Given the description of an element on the screen output the (x, y) to click on. 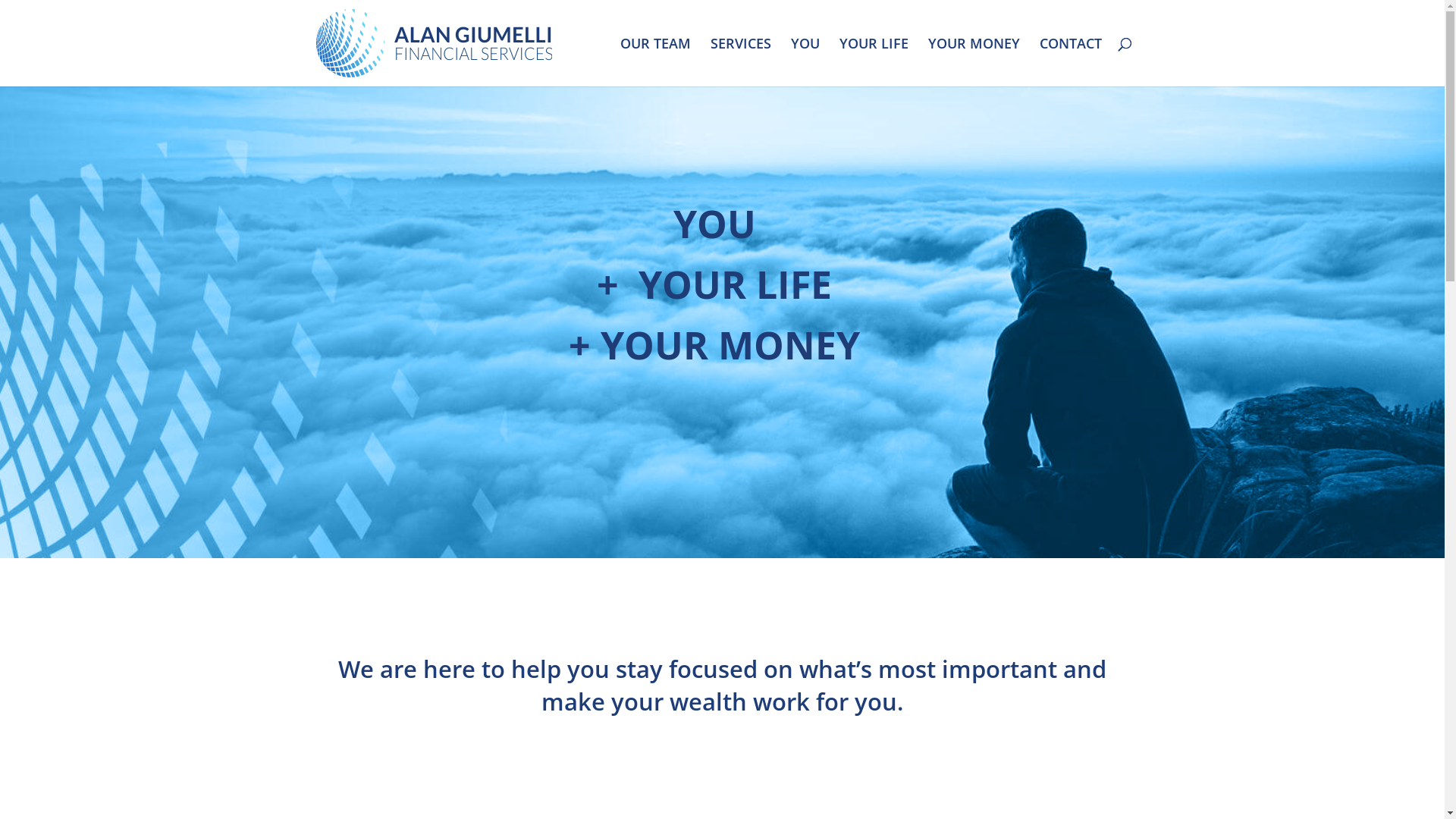
SERVICES Element type: text (739, 61)
YOUR MONEY Element type: text (973, 61)
YOU Element type: text (804, 61)
CONTACT Element type: text (1069, 61)
YOUR LIFE Element type: text (872, 61)
OUR TEAM Element type: text (655, 61)
